Given the description of an element on the screen output the (x, y) to click on. 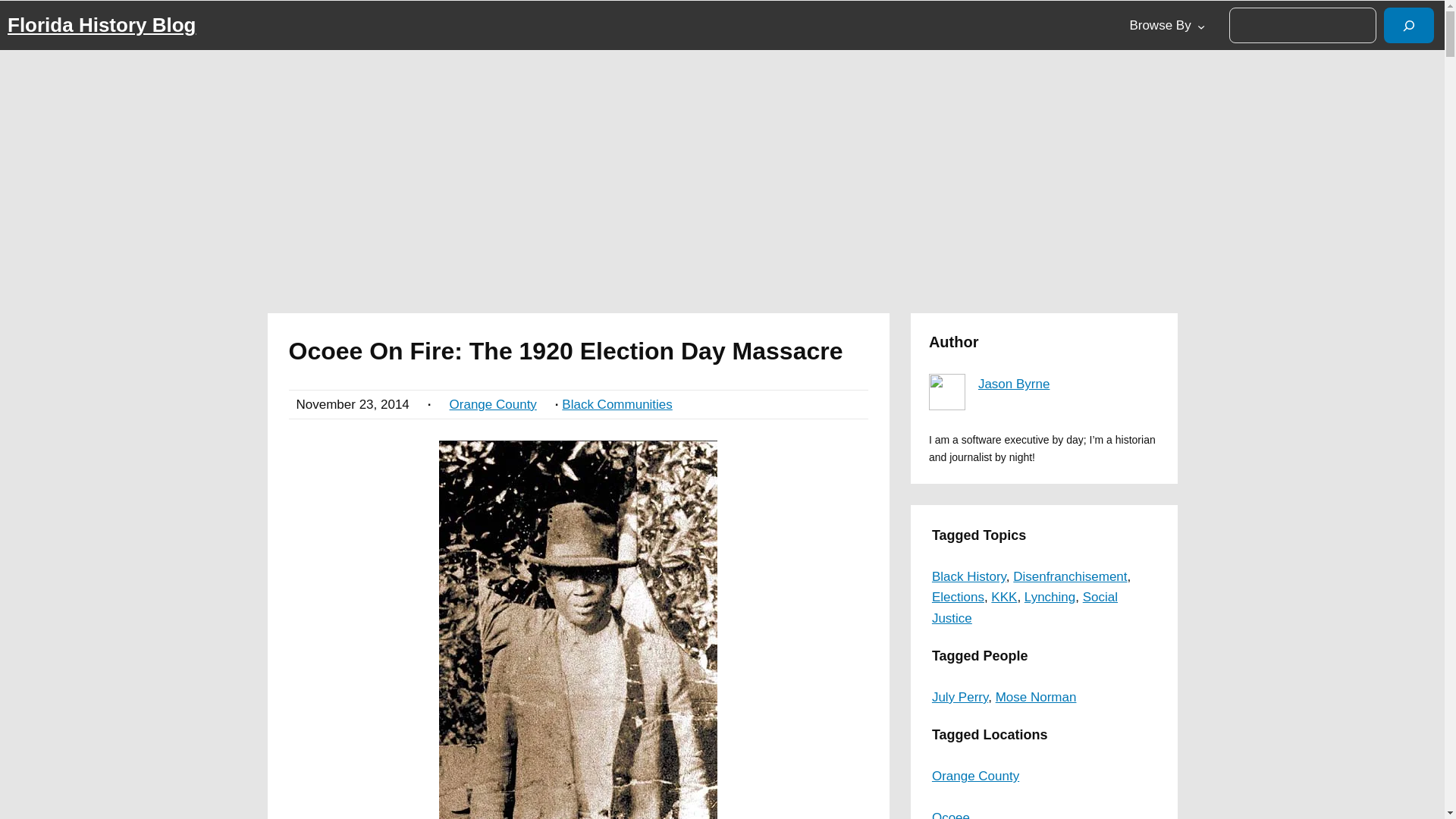
Black Communities (617, 404)
Florida History Blog (101, 24)
Orange County (493, 404)
Browse By (1159, 25)
